Given the description of an element on the screen output the (x, y) to click on. 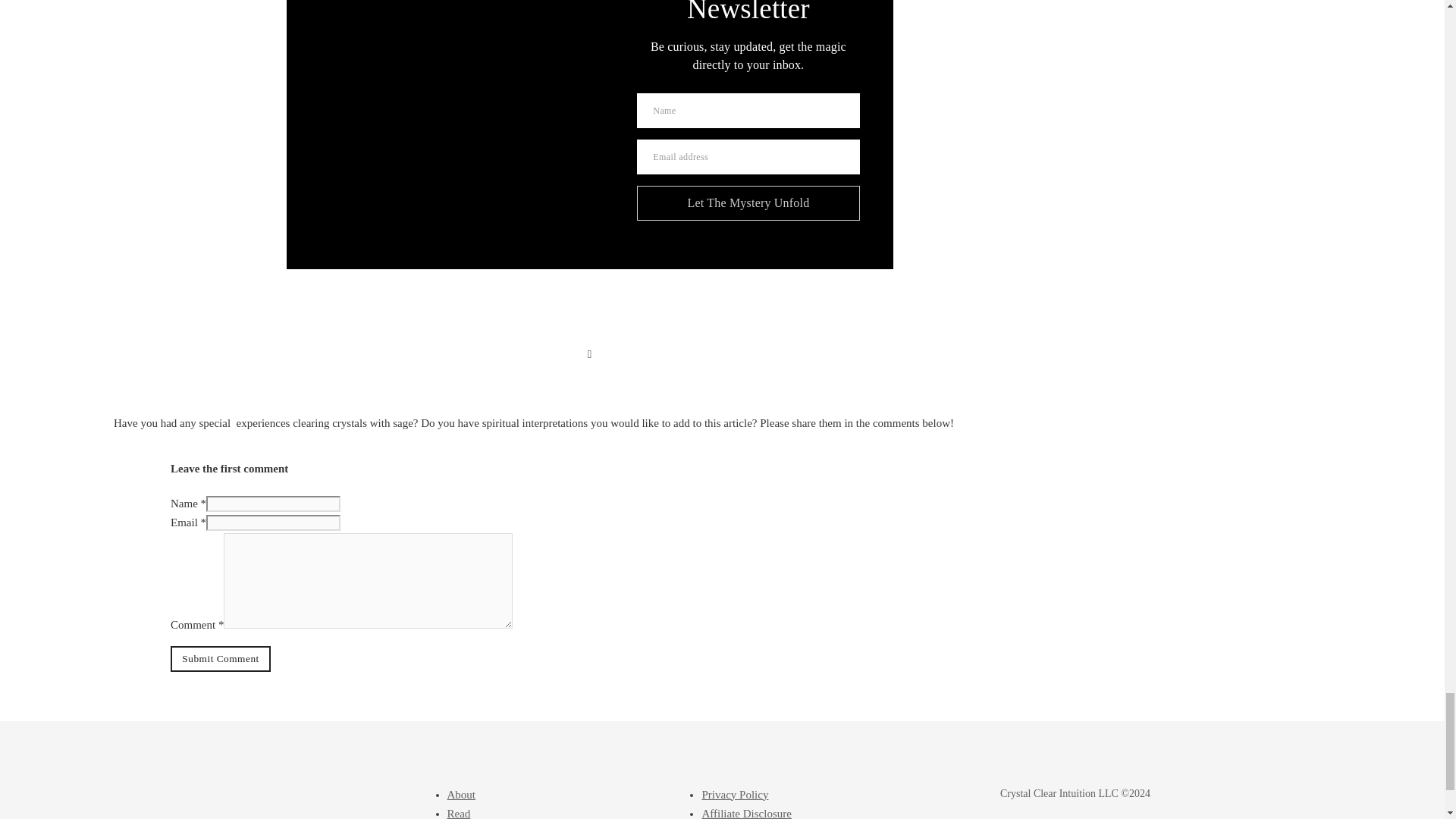
Submit Comment (220, 658)
Submit Comment (220, 658)
Let The Mystery Unfold (748, 202)
